Given the description of an element on the screen output the (x, y) to click on. 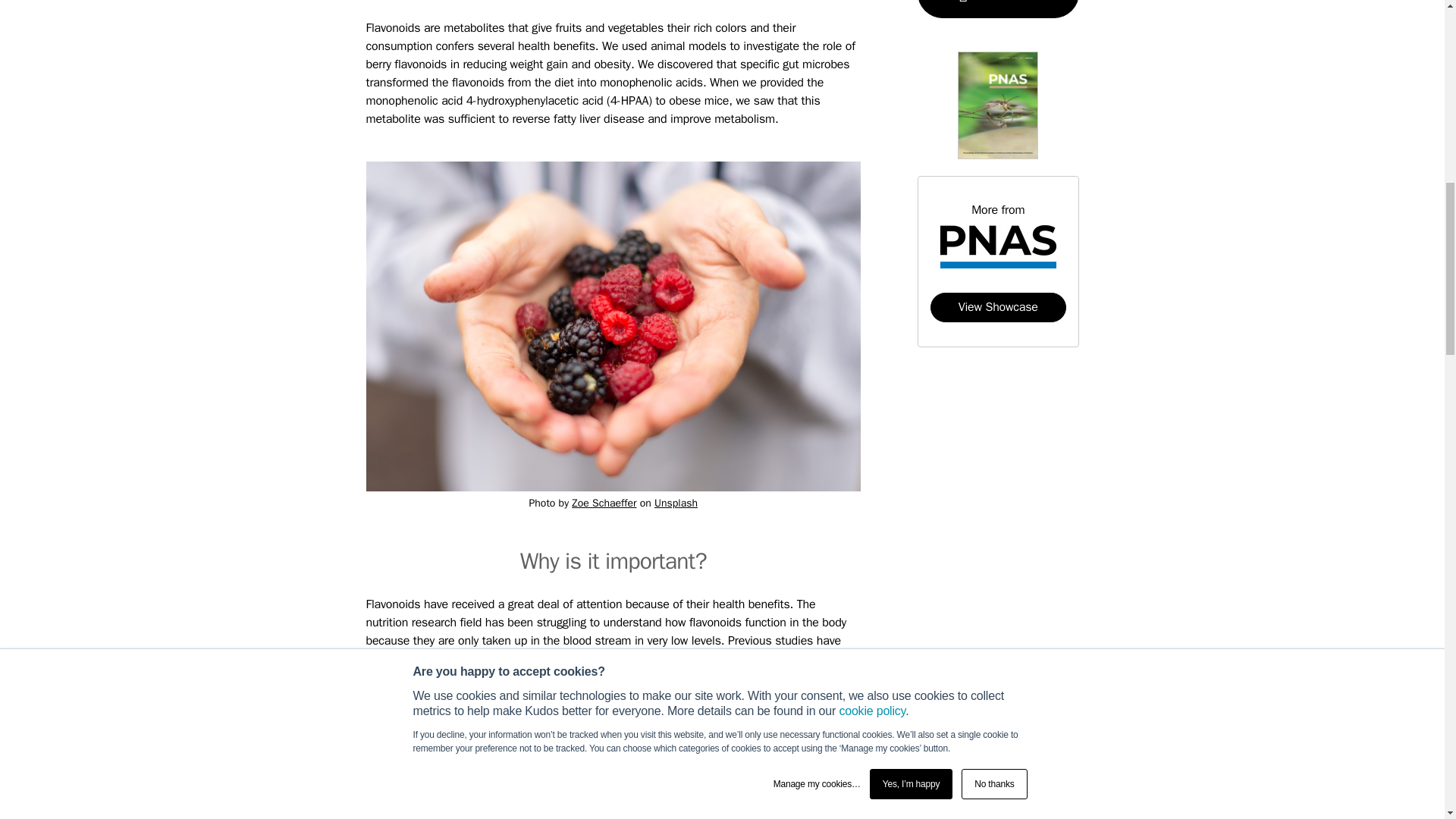
Read Article (997, 9)
Unsplash (675, 502)
Zoe Schaeffer (604, 502)
View Showcase (997, 307)
